Given the description of an element on the screen output the (x, y) to click on. 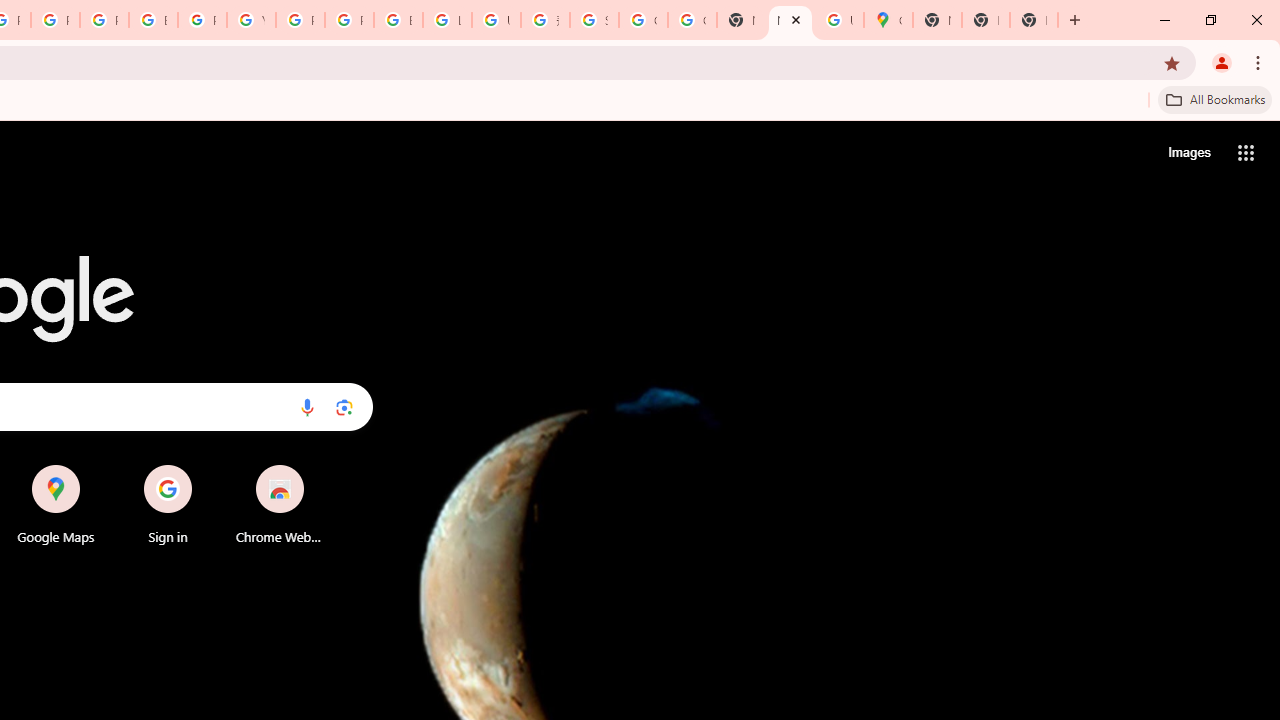
Use Google Maps in Space - Google Maps Help (839, 20)
Privacy Help Center - Policies Help (104, 20)
